Given the description of an element on the screen output the (x, y) to click on. 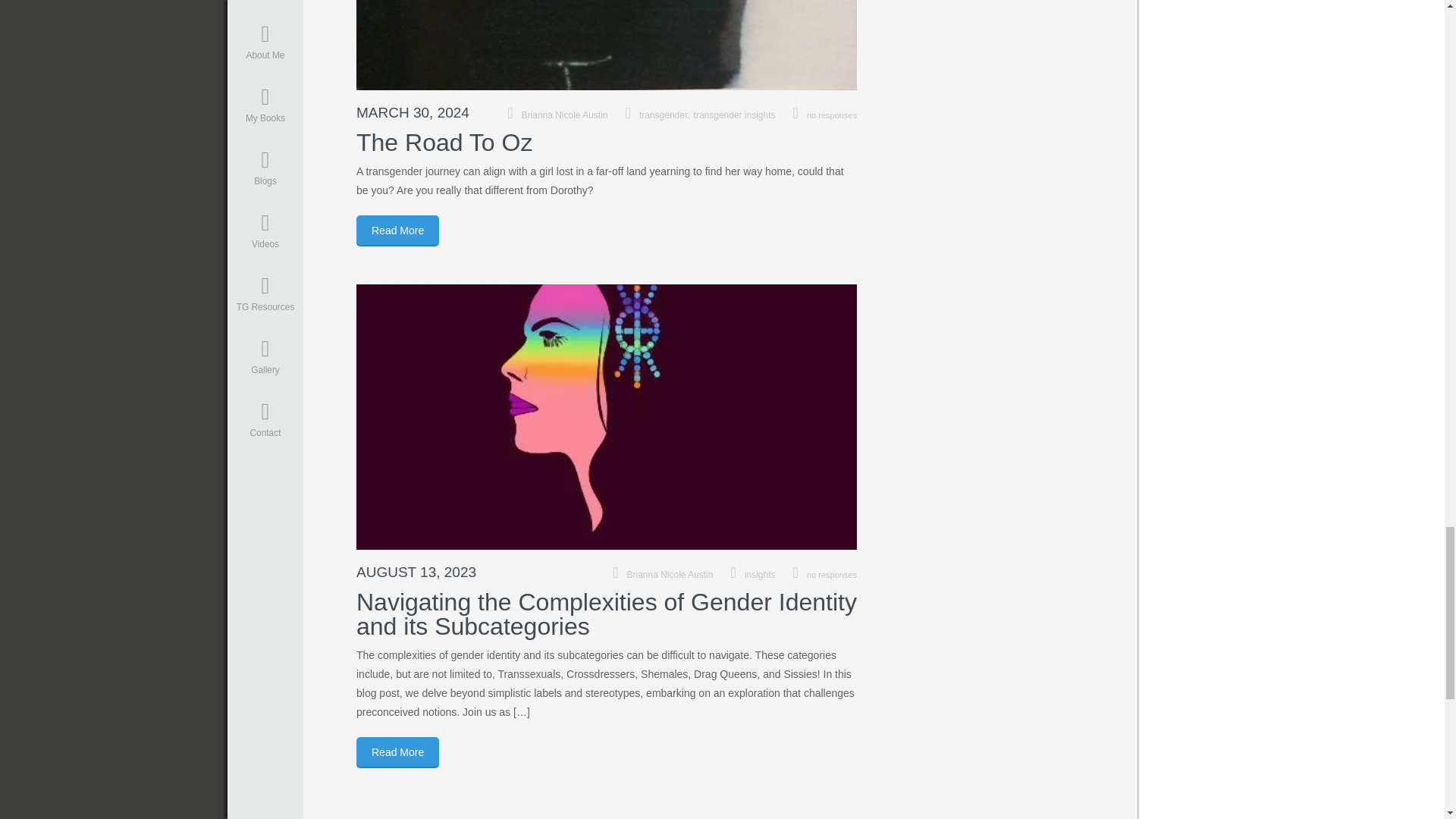
insights (760, 574)
transgender insights (735, 114)
Read More (397, 230)
Brianna Nicole Austin (670, 574)
The Road To Oz (444, 142)
transgender, (666, 114)
Brianna Nicole Austin (564, 114)
